Given the description of an element on the screen output the (x, y) to click on. 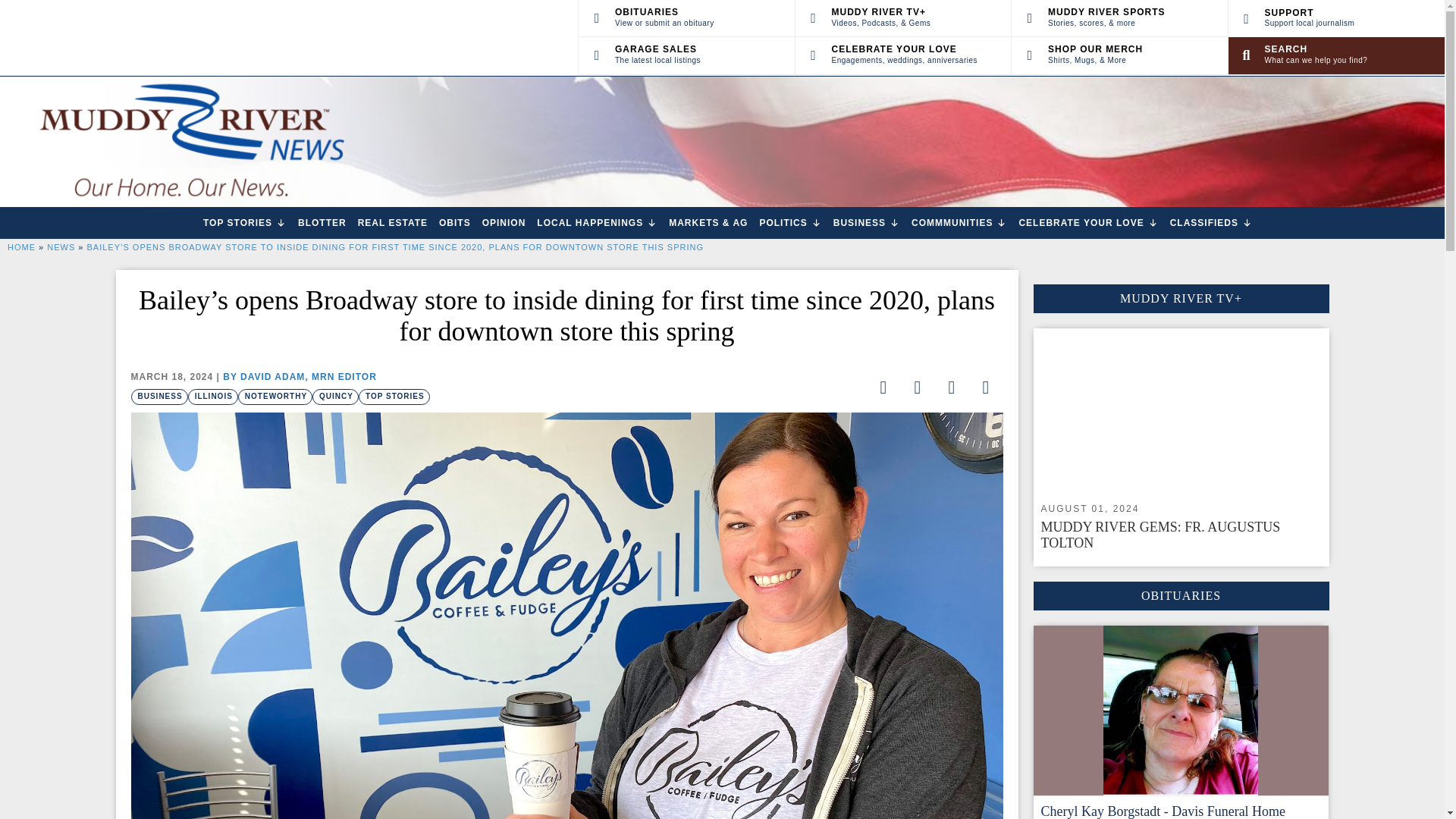
cropped-MRN-final-with-tag.png (189, 141)
FR. AUGUSTUS TOLTON (1179, 411)
